Given the description of an element on the screen output the (x, y) to click on. 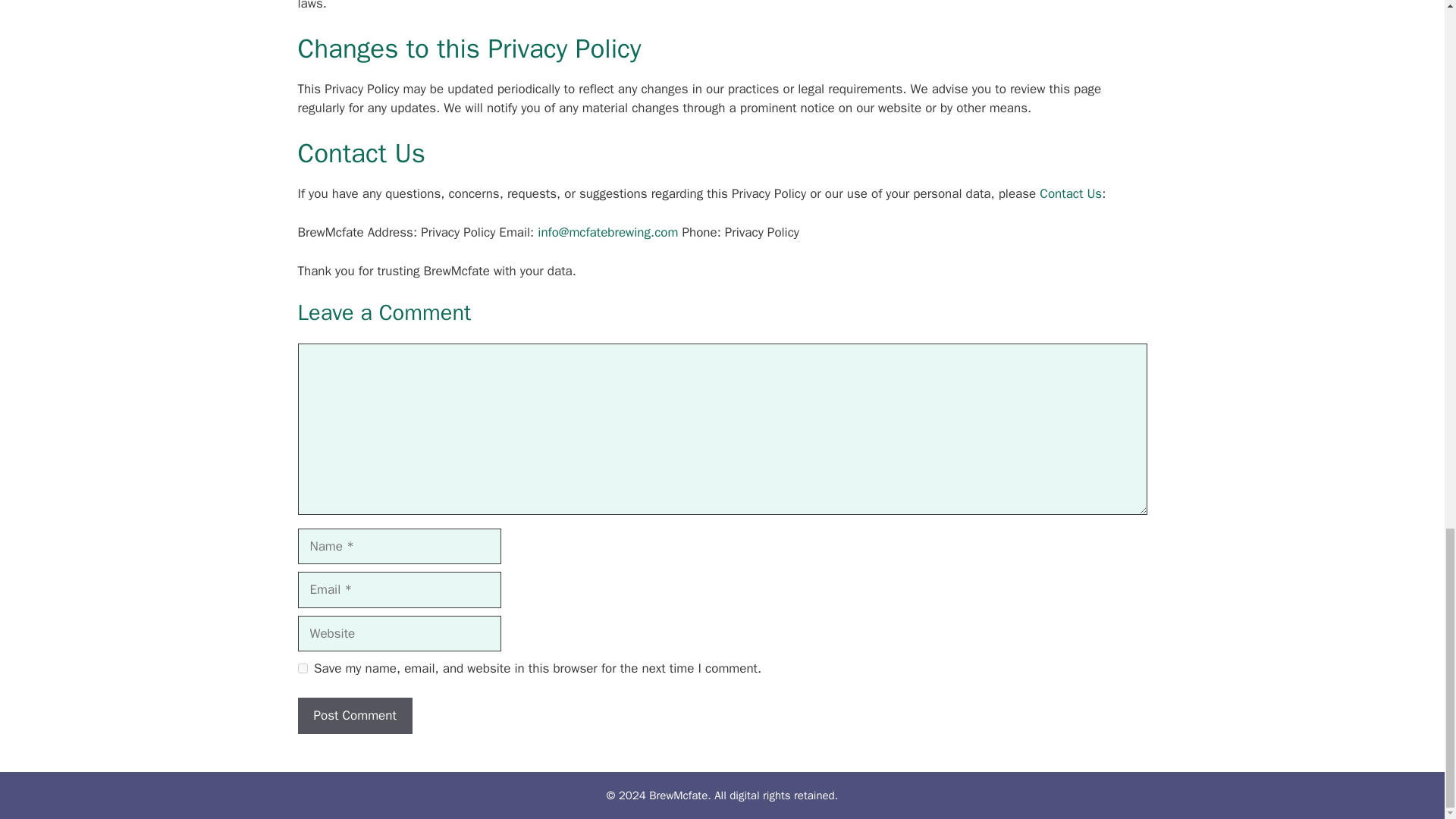
yes (302, 668)
BrewMcfate (678, 795)
Post Comment (354, 715)
Contact Us (1070, 193)
Post Comment (354, 715)
Contact Us (1070, 193)
